Given the description of an element on the screen output the (x, y) to click on. 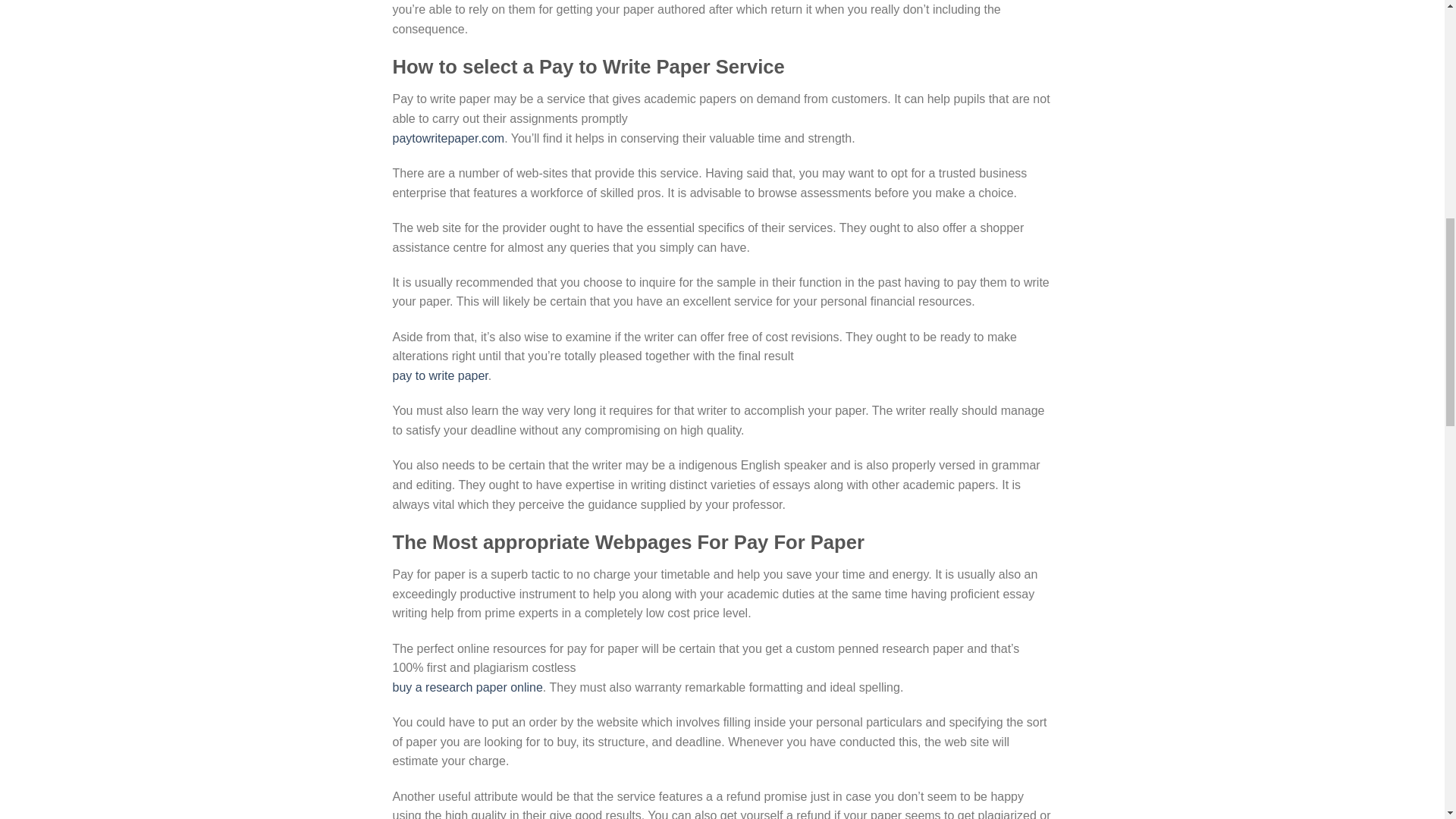
pay to write paper (440, 375)
buy a research paper online (468, 686)
paytowritepaper.com (449, 137)
